Given the description of an element on the screen output the (x, y) to click on. 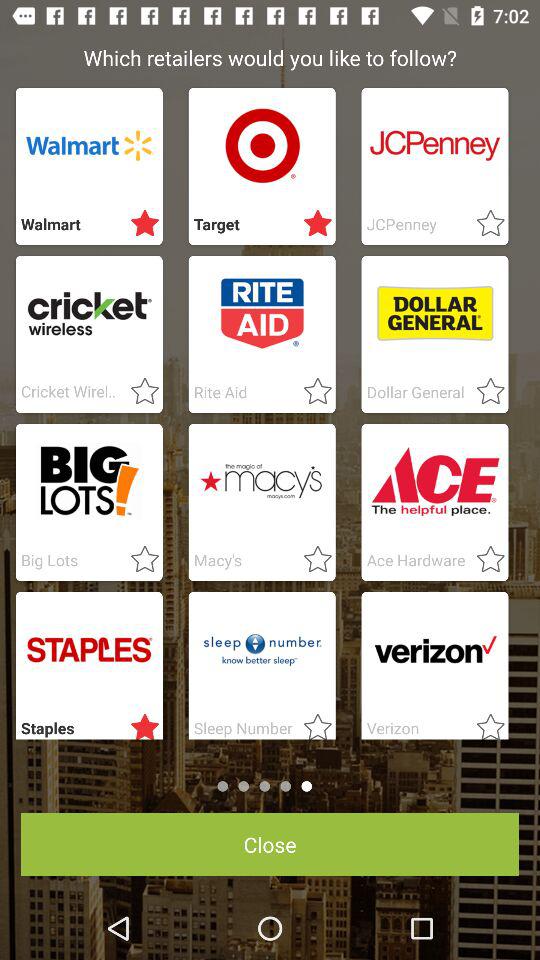
select button (139, 723)
